Given the description of an element on the screen output the (x, y) to click on. 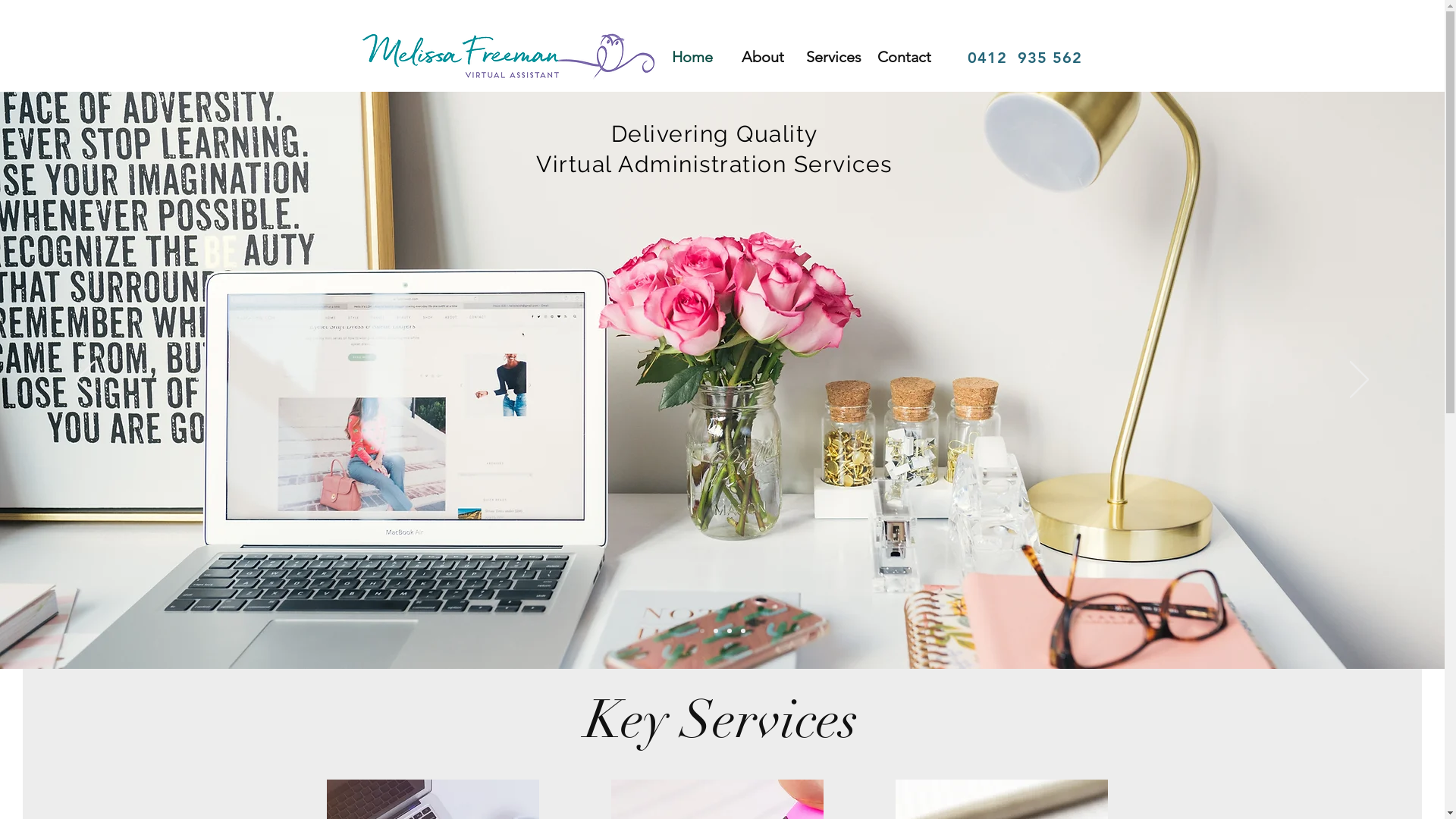
About Element type: text (763, 57)
Contact Element type: text (904, 57)
Services Element type: text (832, 57)
Home Element type: text (691, 57)
